Given the description of an element on the screen output the (x, y) to click on. 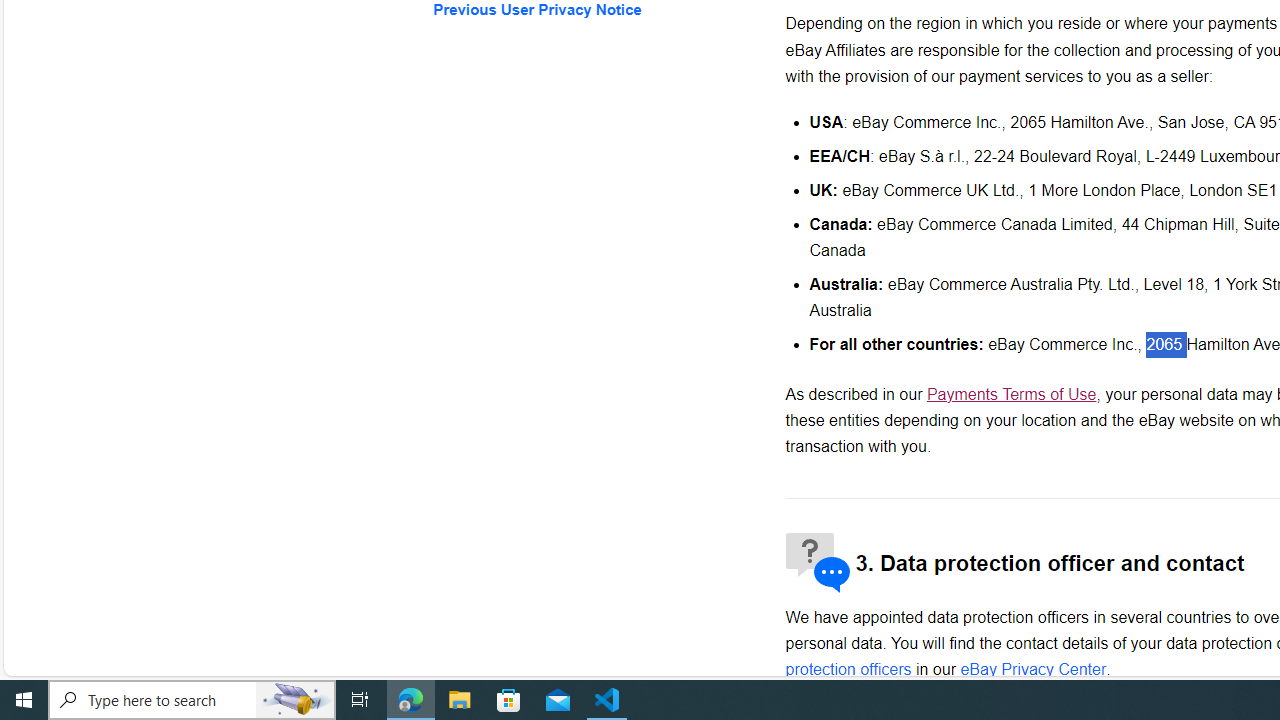
Payments Terms of Use - opens in new window or tab (1010, 394)
eBay Privacy Center - opens in new window or tab (1033, 669)
